Given the description of an element on the screen output the (x, y) to click on. 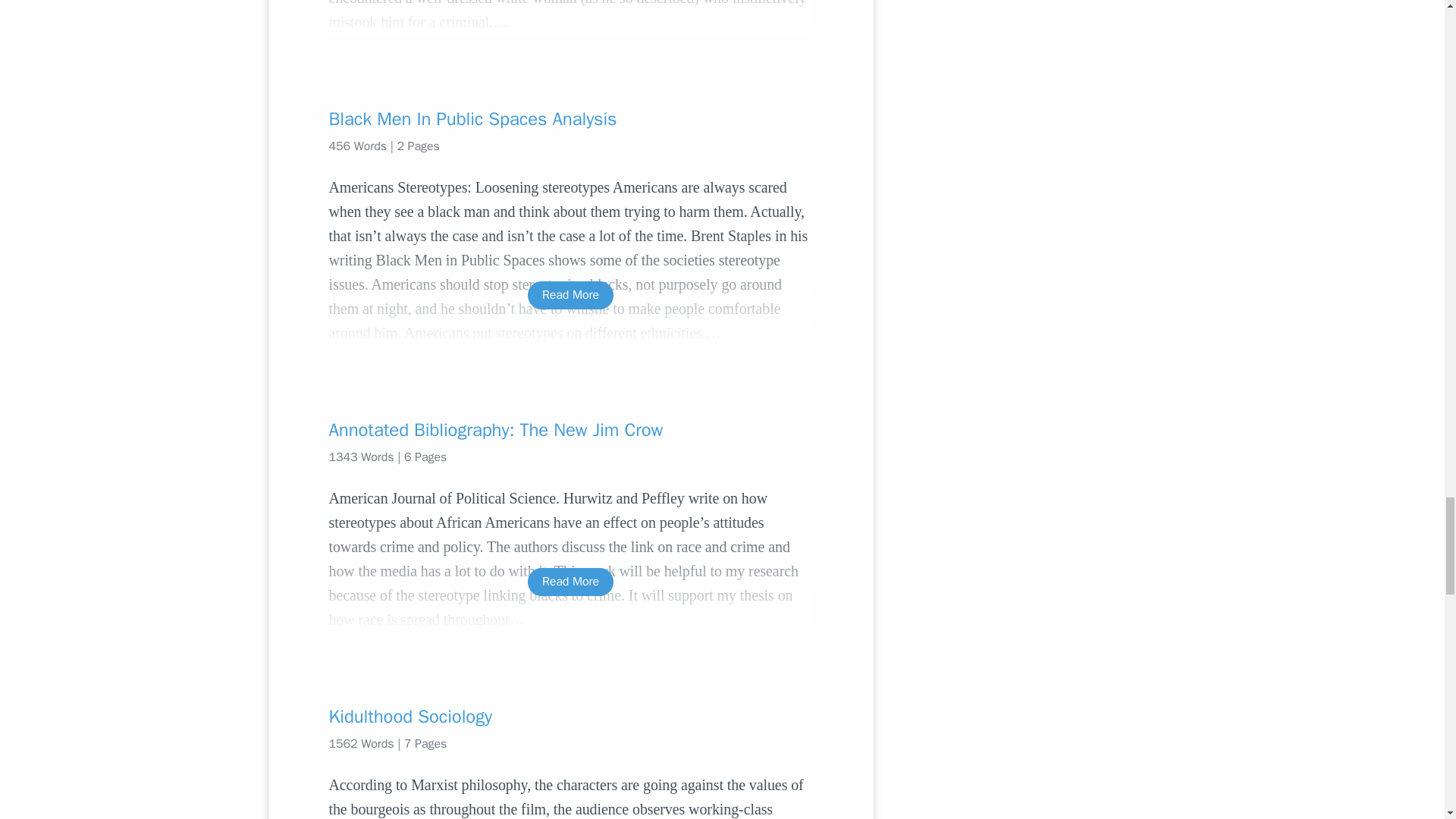
Annotated Bibliography: The New Jim Crow (570, 429)
Kidulthood Sociology (570, 716)
Read More (569, 295)
Read More (569, 582)
Black Men In Public Spaces Analysis (570, 119)
